Given the description of an element on the screen output the (x, y) to click on. 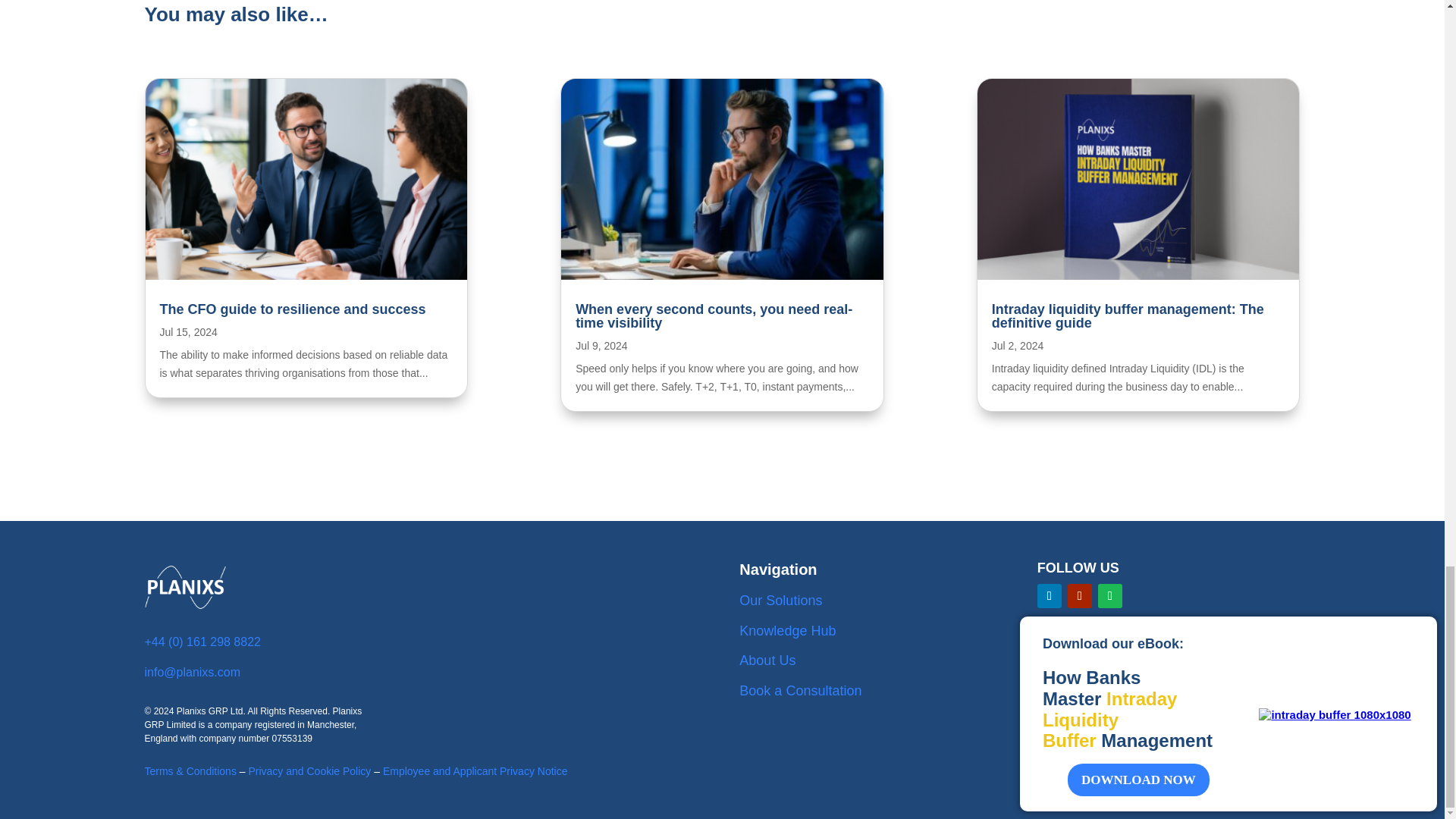
ecovardis logo website 100x100 (1074, 669)
Intraday liquidity buffer management: The definitive guide (1127, 316)
Our Solutions (780, 600)
About Us (766, 660)
Book a Consultation (800, 690)
Privacy and Cookie Policy (309, 770)
Follow on LinkedIn (1048, 595)
Employee and Applicant Privacy Notice (474, 770)
Follow on Youtube (1079, 595)
Knowledge Hub (787, 630)
When every second counts, you need real-time visibility (713, 316)
The CFO guide to resilience and success (291, 309)
Follow on Spotify (1109, 595)
